Given the description of an element on the screen output the (x, y) to click on. 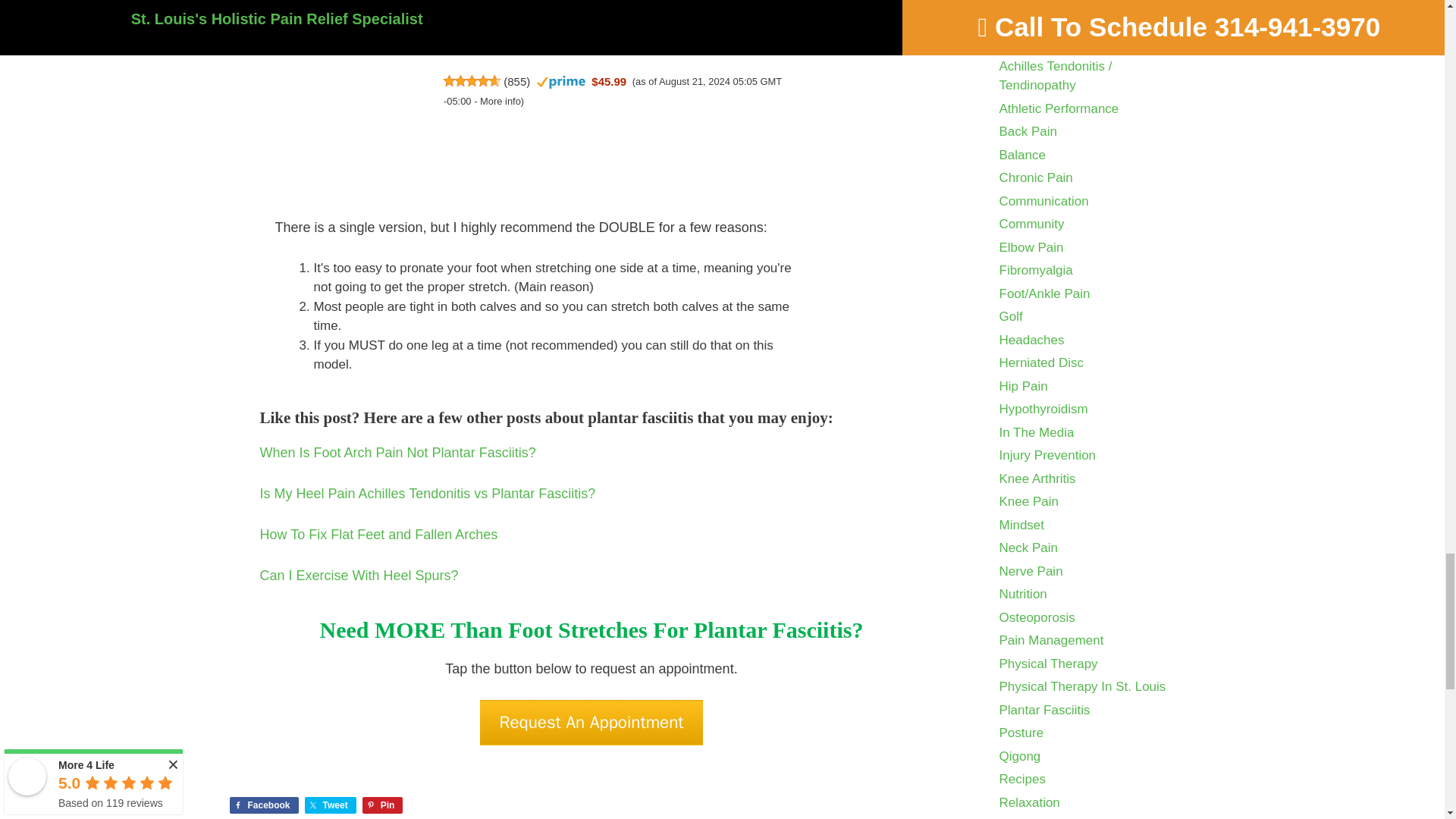
Share on Pinterest (382, 805)
Share on Twitter (330, 805)
Share on Facebook (263, 805)
